Given the description of an element on the screen output the (x, y) to click on. 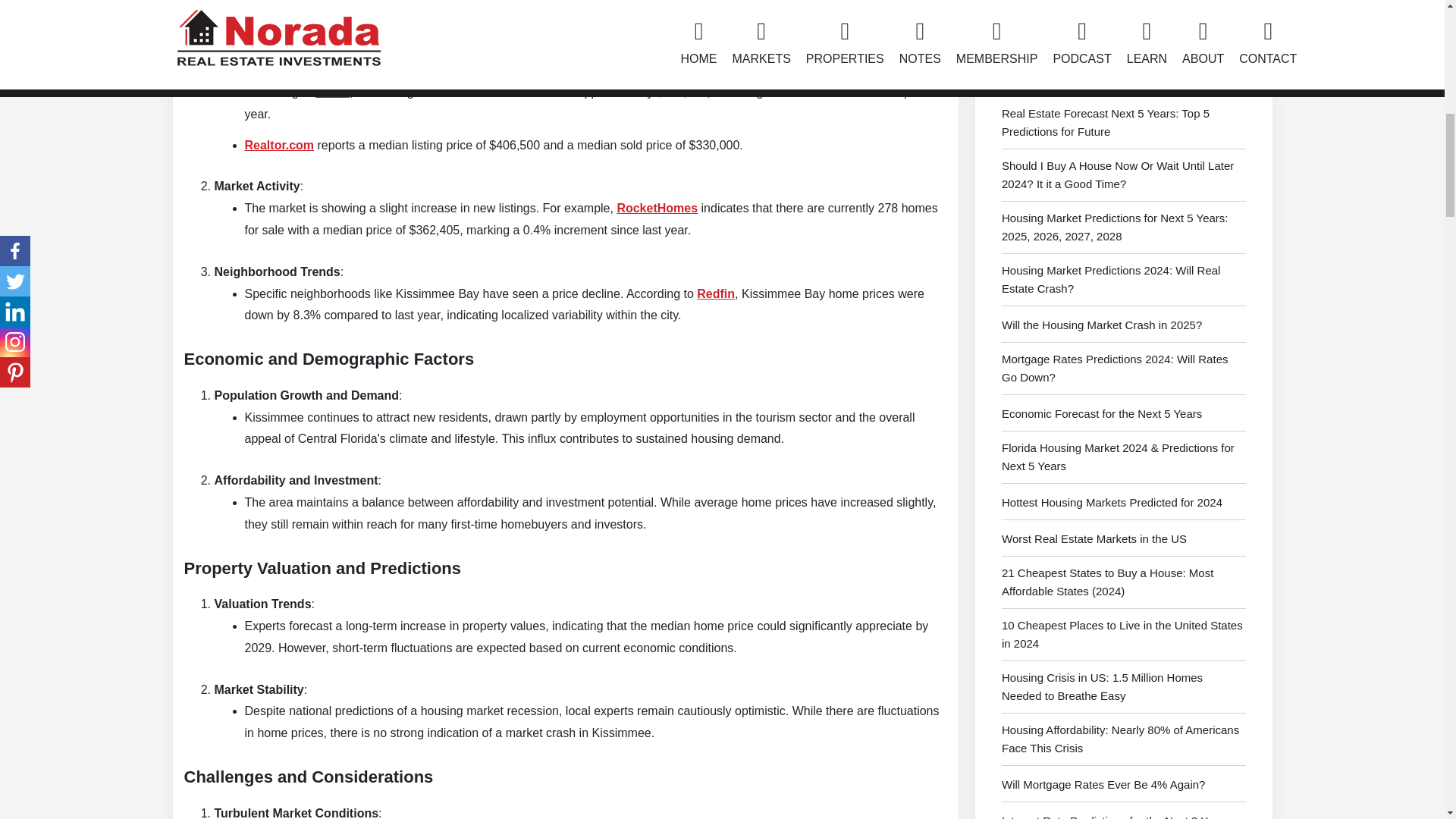
Interest Rate Predictions for the Next 3 Years (1123, 815)
Housing Market Predictions 2024: Will Real Estate Crash? (1123, 283)
Mortgage Rates Predictions 2024: Will Rates Go Down? (1123, 372)
Economic Forecast for the Next 5 Years (1123, 417)
10 Cheapest Places to Live in the United States in 2024 (1123, 638)
Hottest Housing Markets Predicted for 2024 (1123, 506)
